Given the description of an element on the screen output the (x, y) to click on. 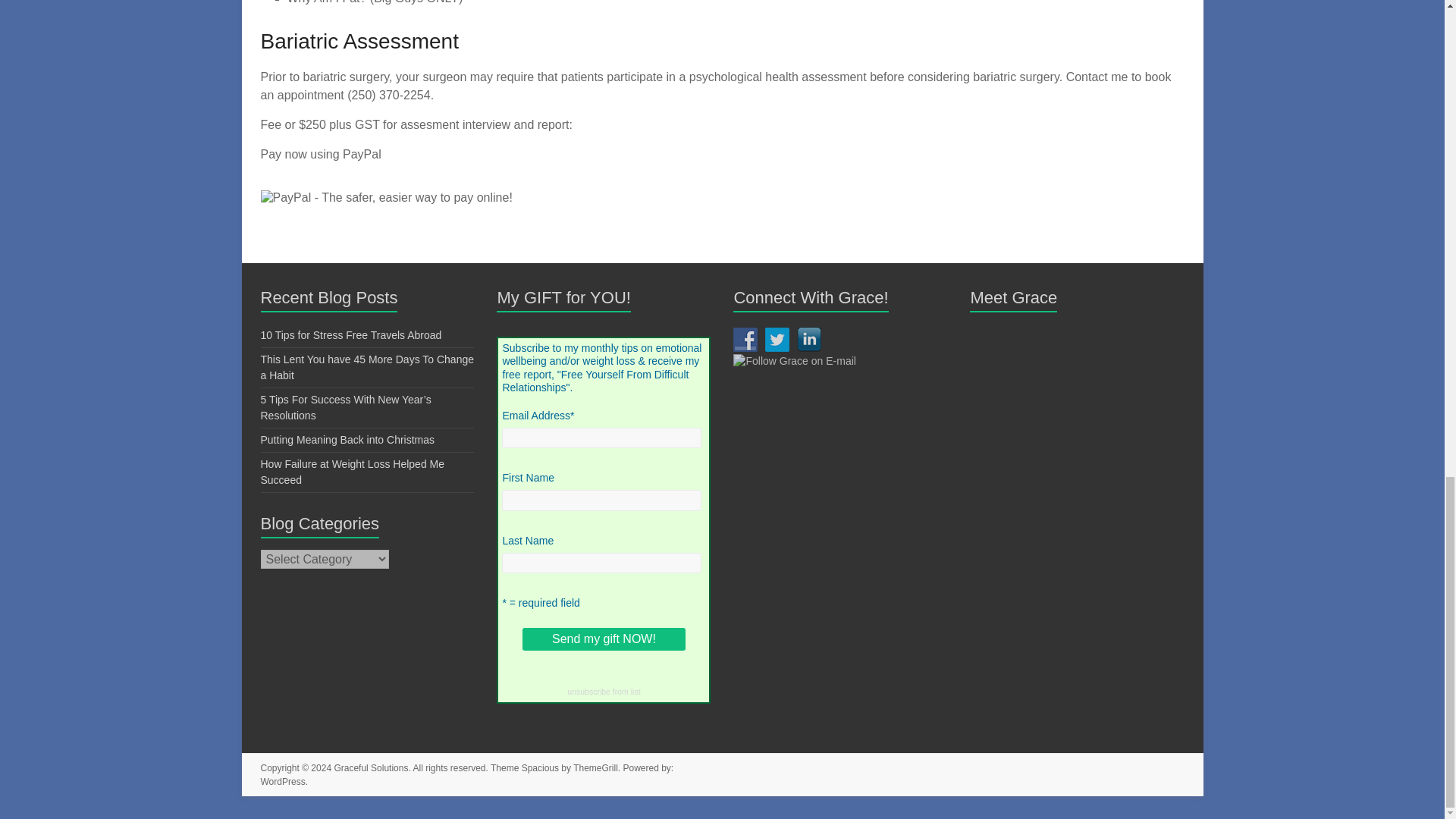
This Lent You have 45 More Days To Change a Habit (367, 366)
Follow Grace on E-mail (794, 360)
Graceful Solutions (370, 767)
Graceful Solutions (370, 767)
Spacious (540, 767)
How Failure at Weight Loss Helped Me Succeed (352, 471)
Follow Grace on Facebook (745, 339)
10 Tips for Stress Free Travels Abroad (351, 335)
Follow Grace on LinkedIn (808, 339)
Send my gift NOW! (603, 639)
Connect with Grace on Twitter (777, 339)
unsubscribe from list (603, 691)
WordPress (282, 781)
WordPress (282, 781)
Spacious (540, 767)
